Given the description of an element on the screen output the (x, y) to click on. 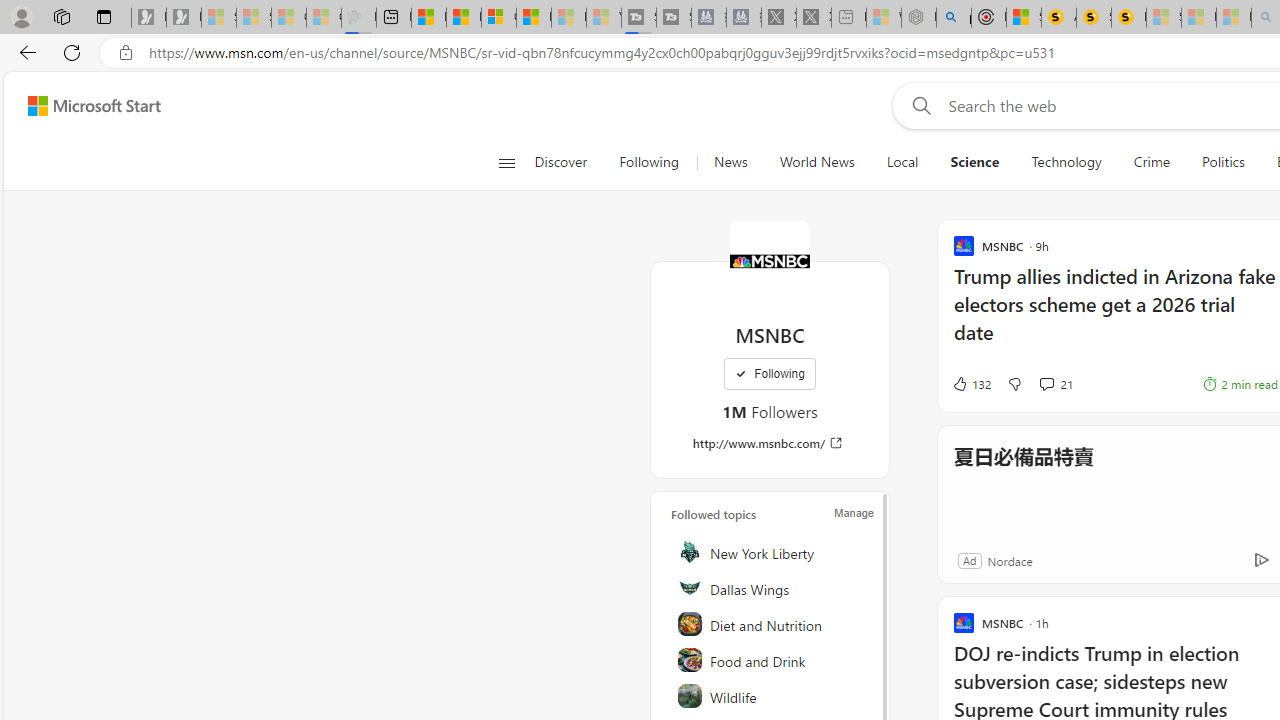
View comments 21 Comment (1055, 384)
